Given the description of an element on the screen output the (x, y) to click on. 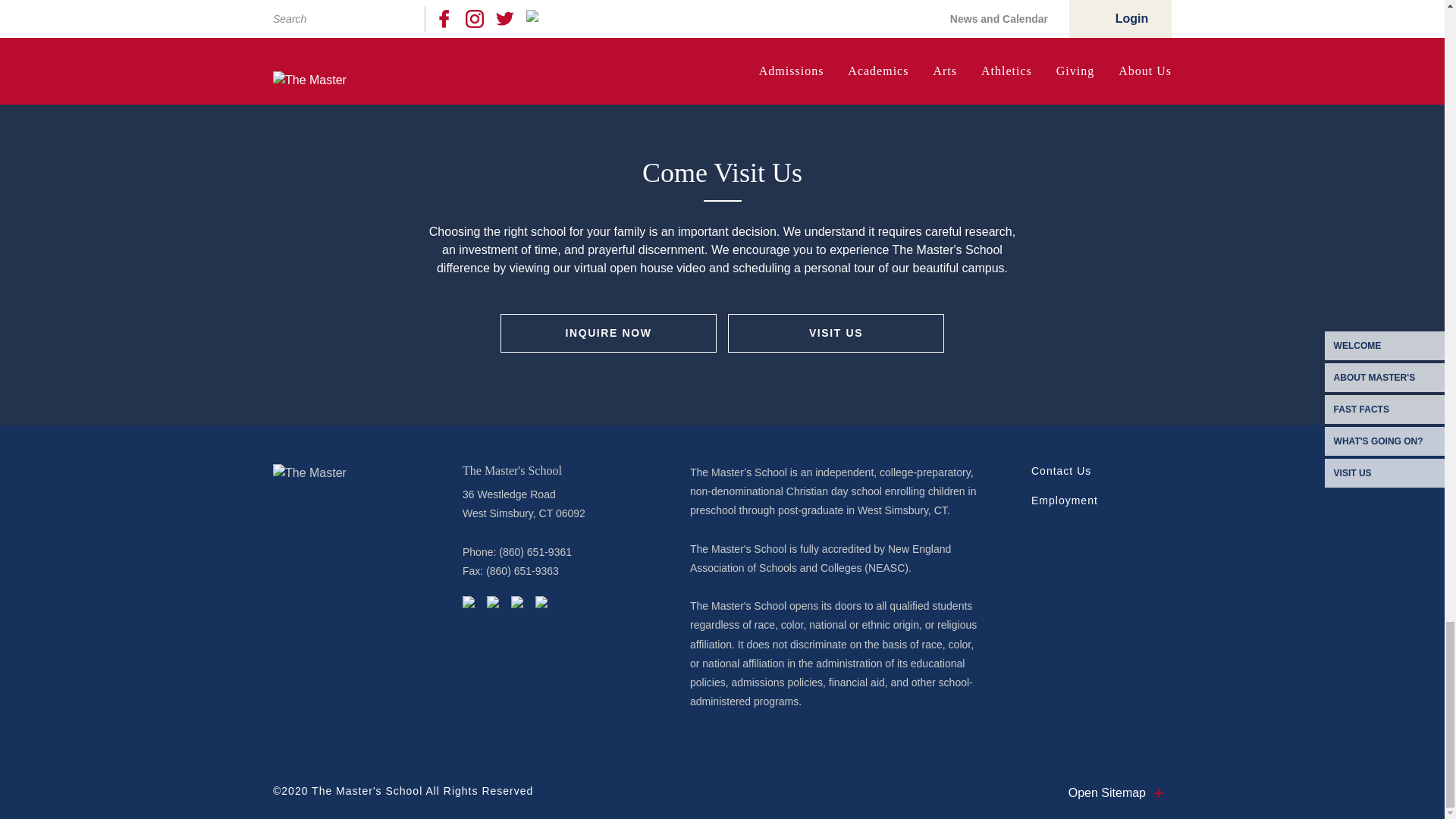
open or close this sitemap (1120, 792)
